Given the description of an element on the screen output the (x, y) to click on. 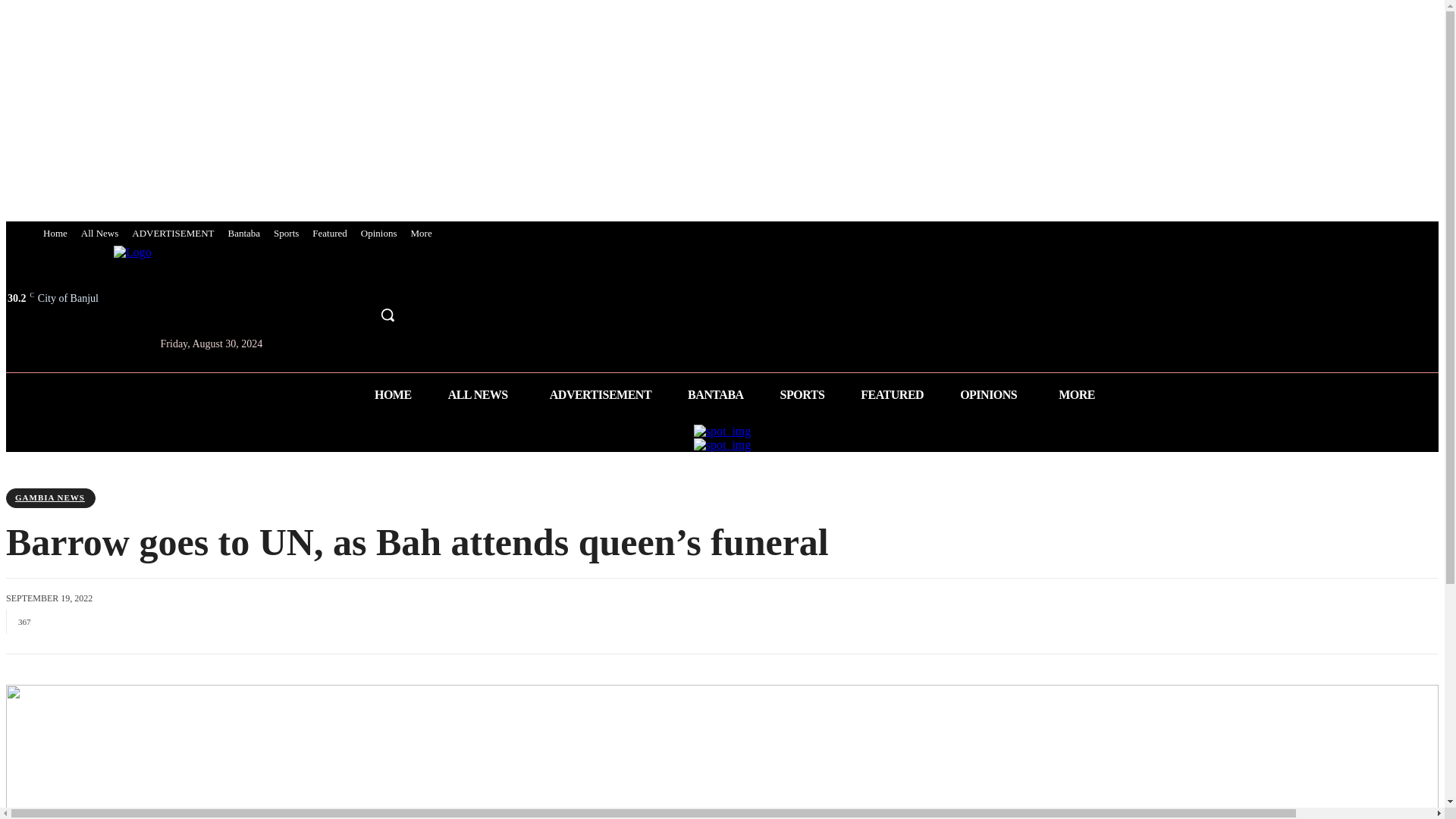
Youtube (390, 281)
All News (99, 233)
Opinions (378, 233)
Twitter (362, 281)
ALL NEWS (480, 394)
ADVERTISEMENT (173, 233)
Sports (285, 233)
Bantaba (244, 233)
Featured (329, 233)
Home (55, 233)
